Given the description of an element on the screen output the (x, y) to click on. 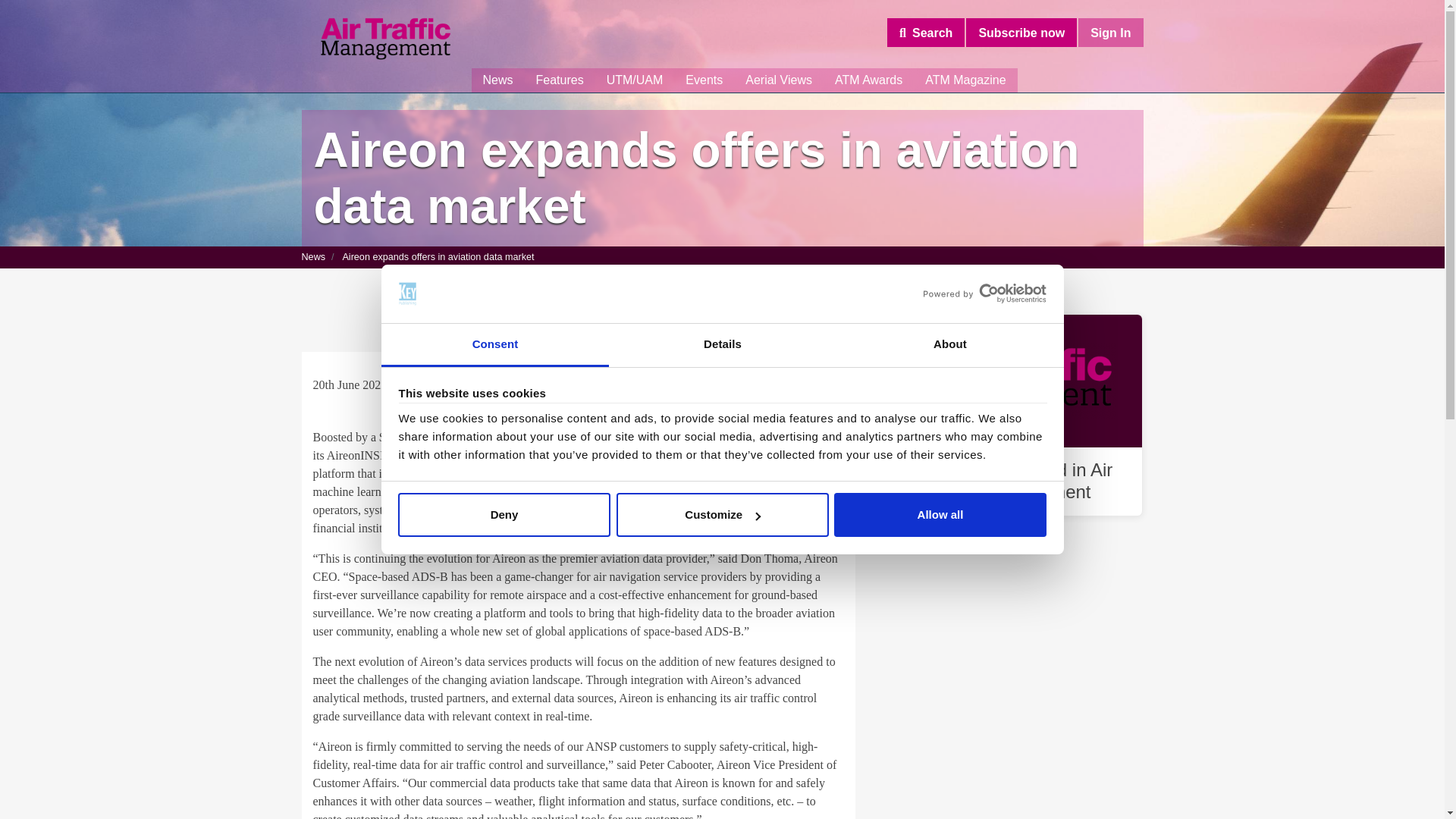
About (948, 344)
Details (721, 344)
Home (384, 39)
Share on Twitter (791, 372)
Share on LinkedIn (834, 372)
Consent (494, 344)
Sign into the site (1110, 32)
